Given the description of an element on the screen output the (x, y) to click on. 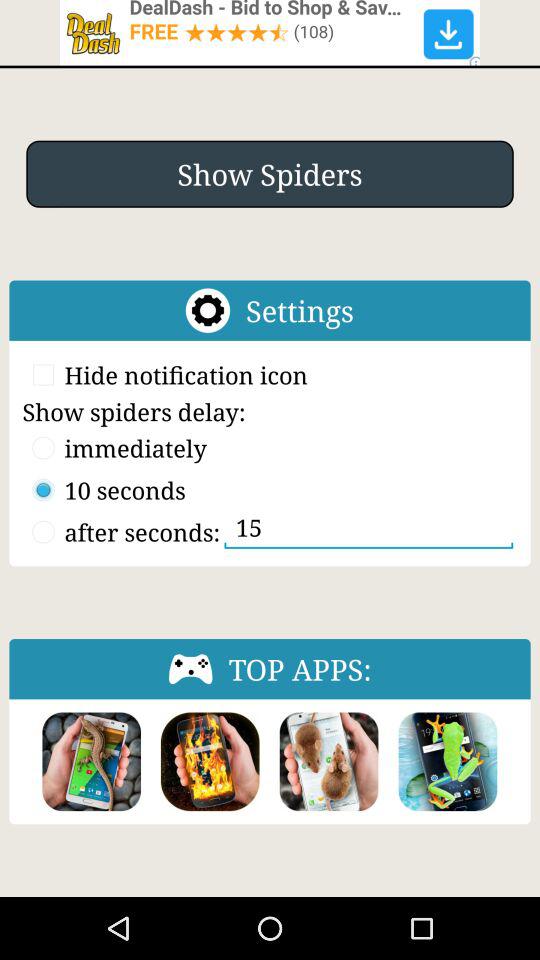
advertisement banner (270, 32)
